Given the description of an element on the screen output the (x, y) to click on. 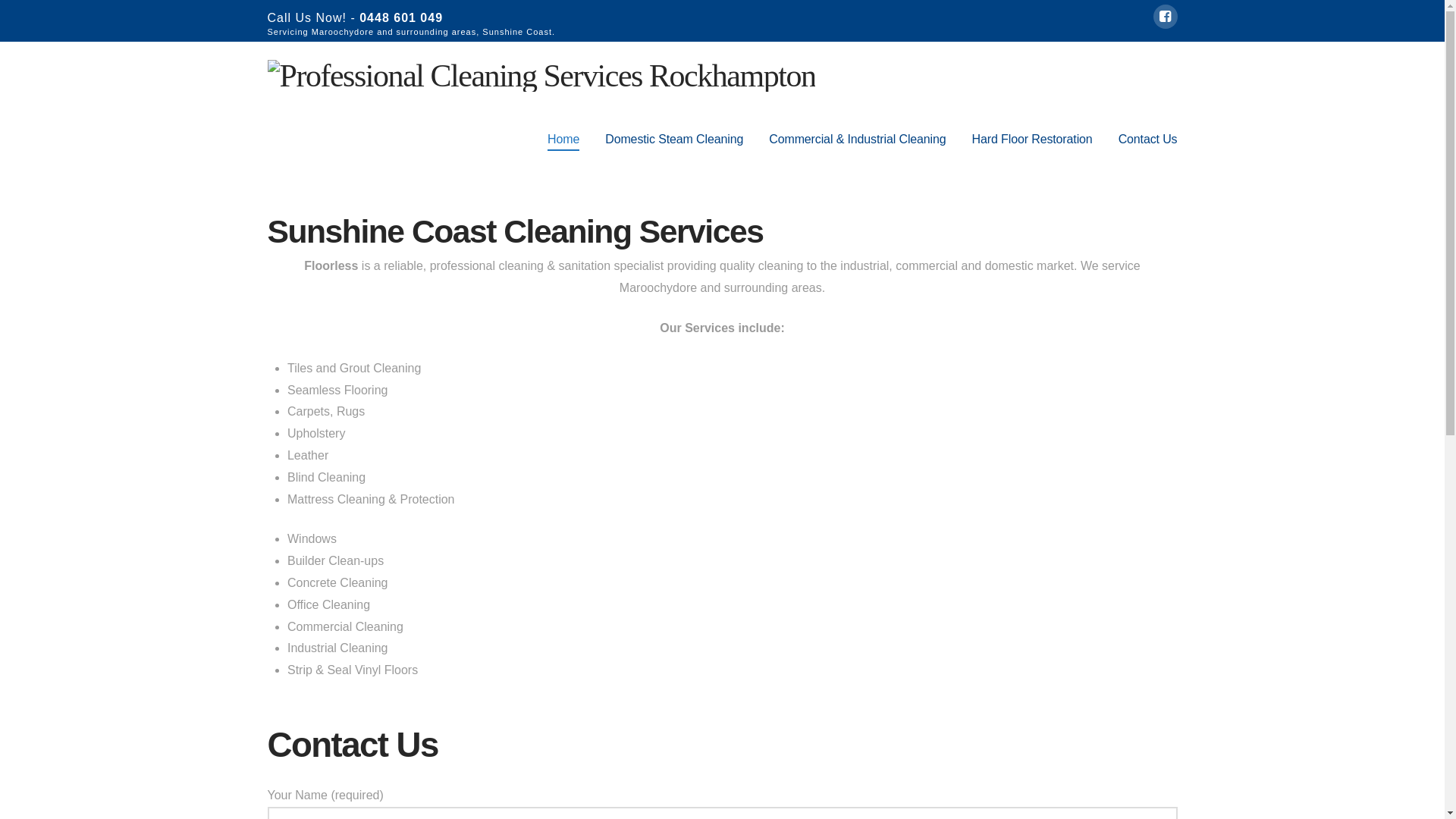
Home Element type: text (563, 139)
Professional Cleaning Services Rockhampton Element type: hover (540, 73)
Commercial & Industrial Cleaning Element type: text (857, 139)
Contact Us Element type: text (1141, 139)
Domestic Steam Cleaning Element type: text (674, 139)
Facebook Element type: hover (1164, 16)
0448 601 049 Element type: text (400, 17)
Hard Floor Restoration Element type: text (1032, 139)
